Given the description of an element on the screen output the (x, y) to click on. 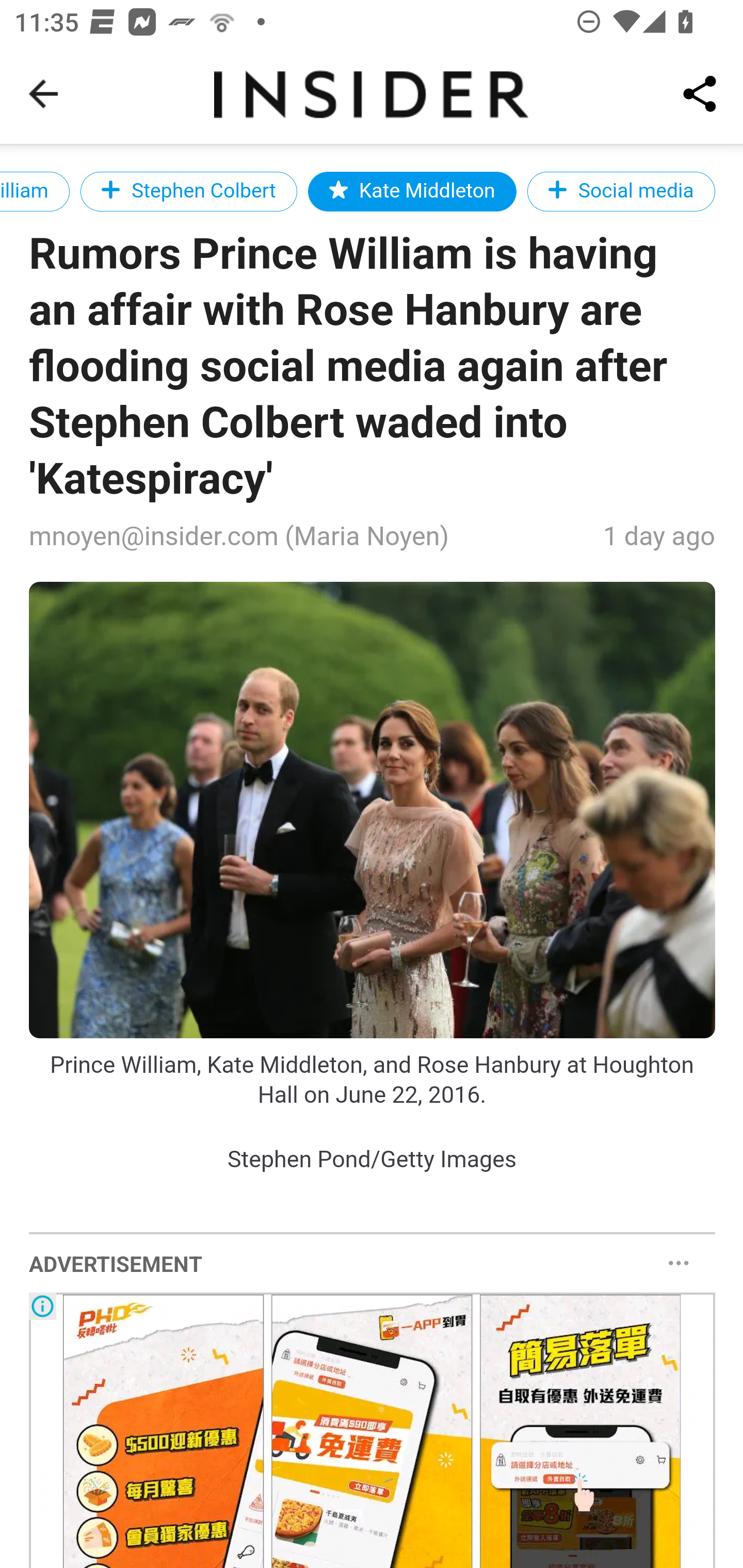
Stephen Colbert (188, 191)
Kate Middleton (411, 191)
Social media (620, 191)
?url=https%3A%2F%2Fi.insider (372, 810)
